Given the description of an element on the screen output the (x, y) to click on. 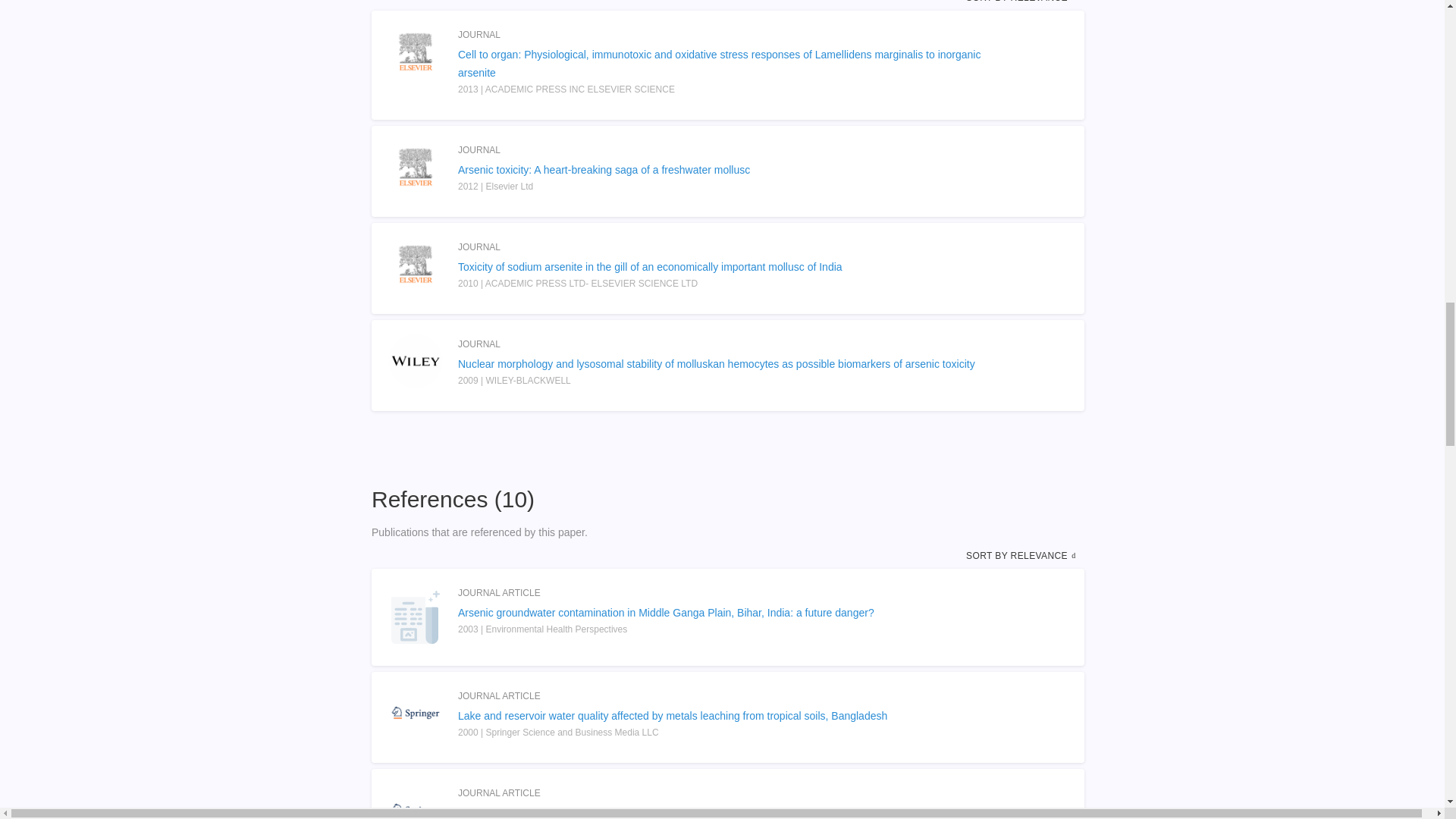
Arsenic poisoning in the Ganges delta (727, 811)
SORT BY RELEVANCE (1022, 555)
Publication cover (415, 360)
Publication cover (415, 712)
Publication cover (415, 166)
Publication cover (415, 51)
SORT BY RELEVANCE (1022, 2)
Publication cover (415, 800)
Publication cover (415, 263)
